Given the description of an element on the screen output the (x, y) to click on. 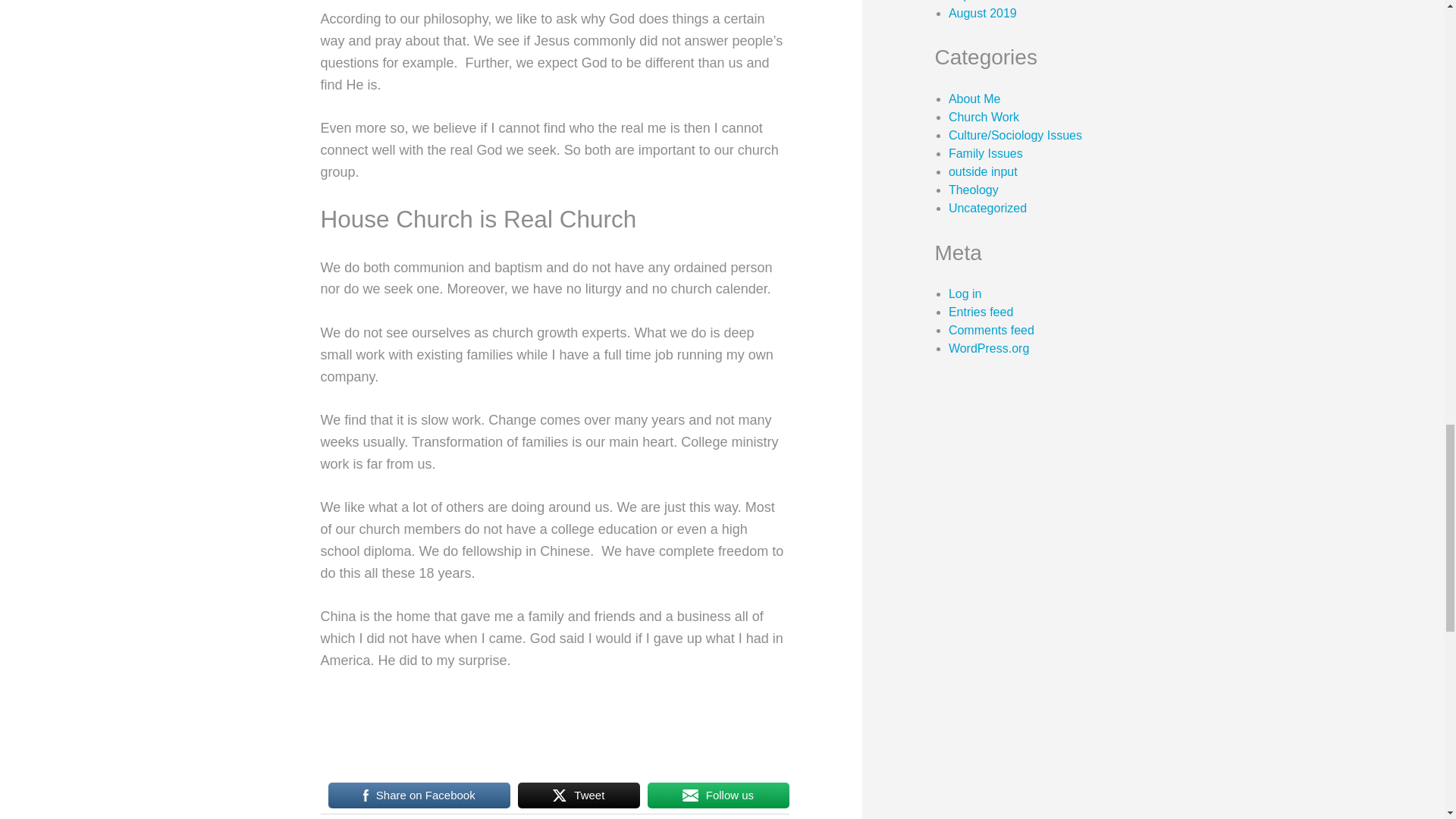
Follow us (718, 795)
Tweet (579, 795)
Share on Facebook (419, 795)
